Given the description of an element on the screen output the (x, y) to click on. 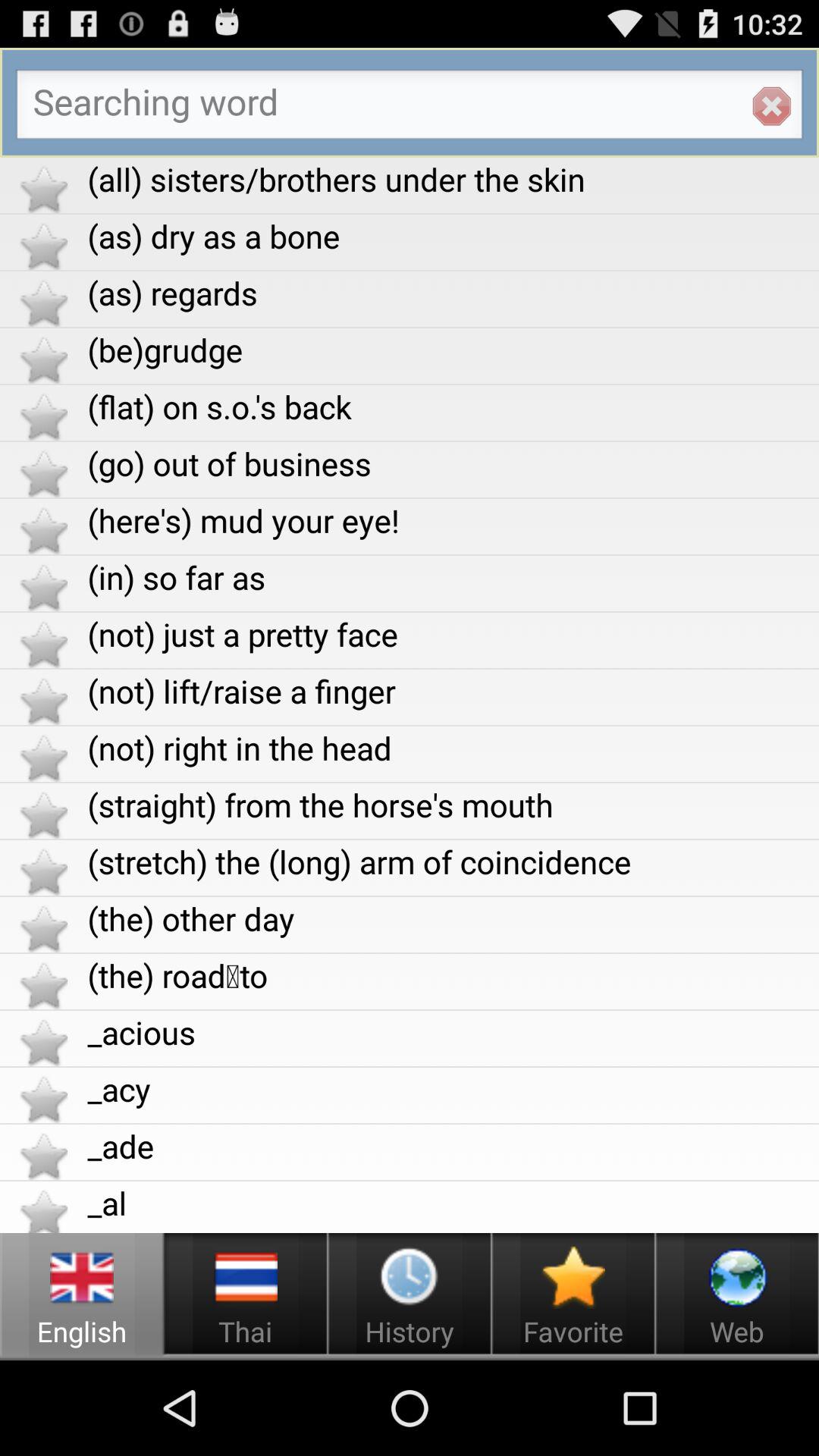
delete the searched word (771, 106)
